Given the description of an element on the screen output the (x, y) to click on. 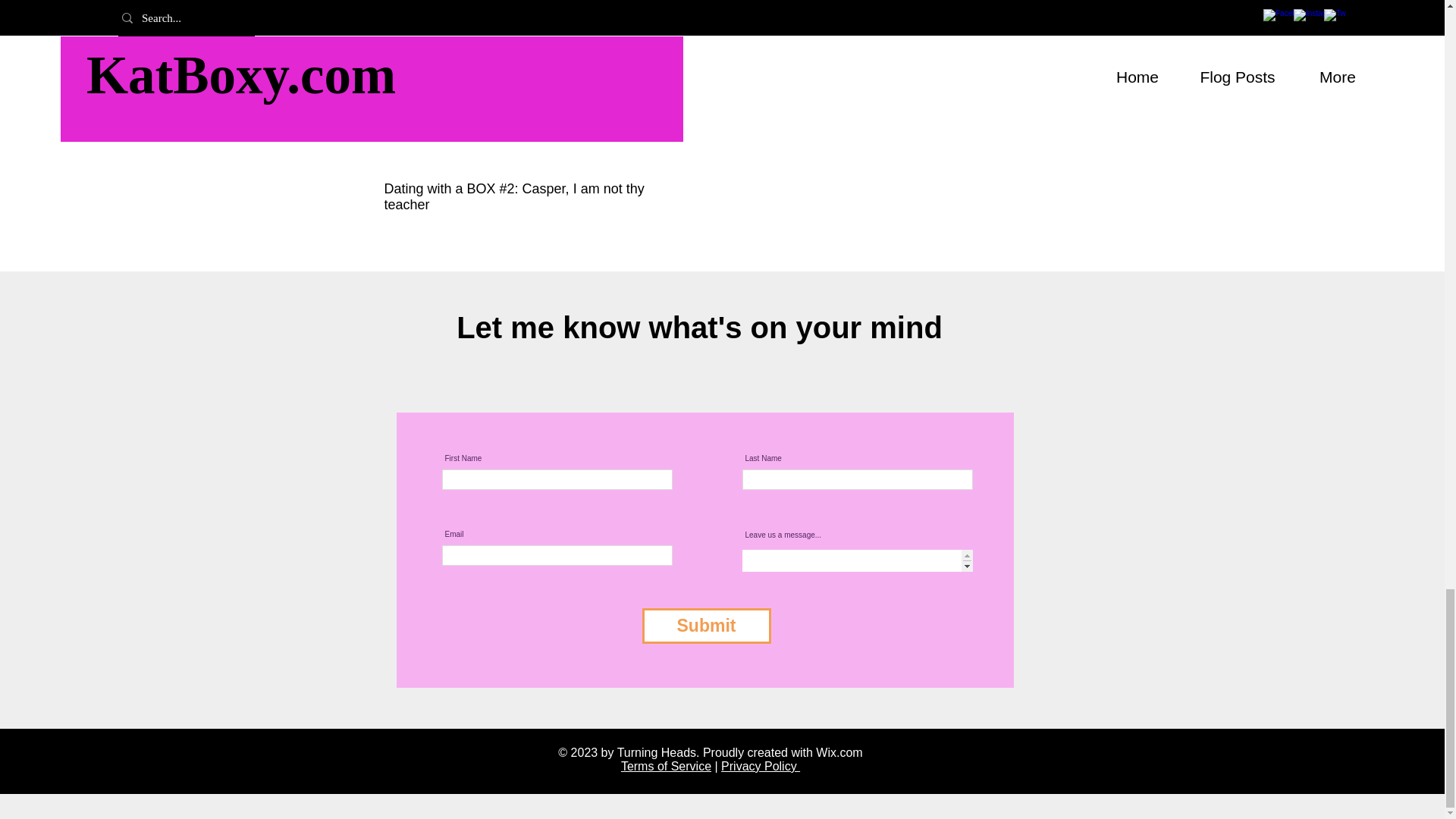
Privacy Policy  (759, 766)
Terms of Service (666, 766)
Wix.com (838, 752)
Submit (706, 625)
